Given the description of an element on the screen output the (x, y) to click on. 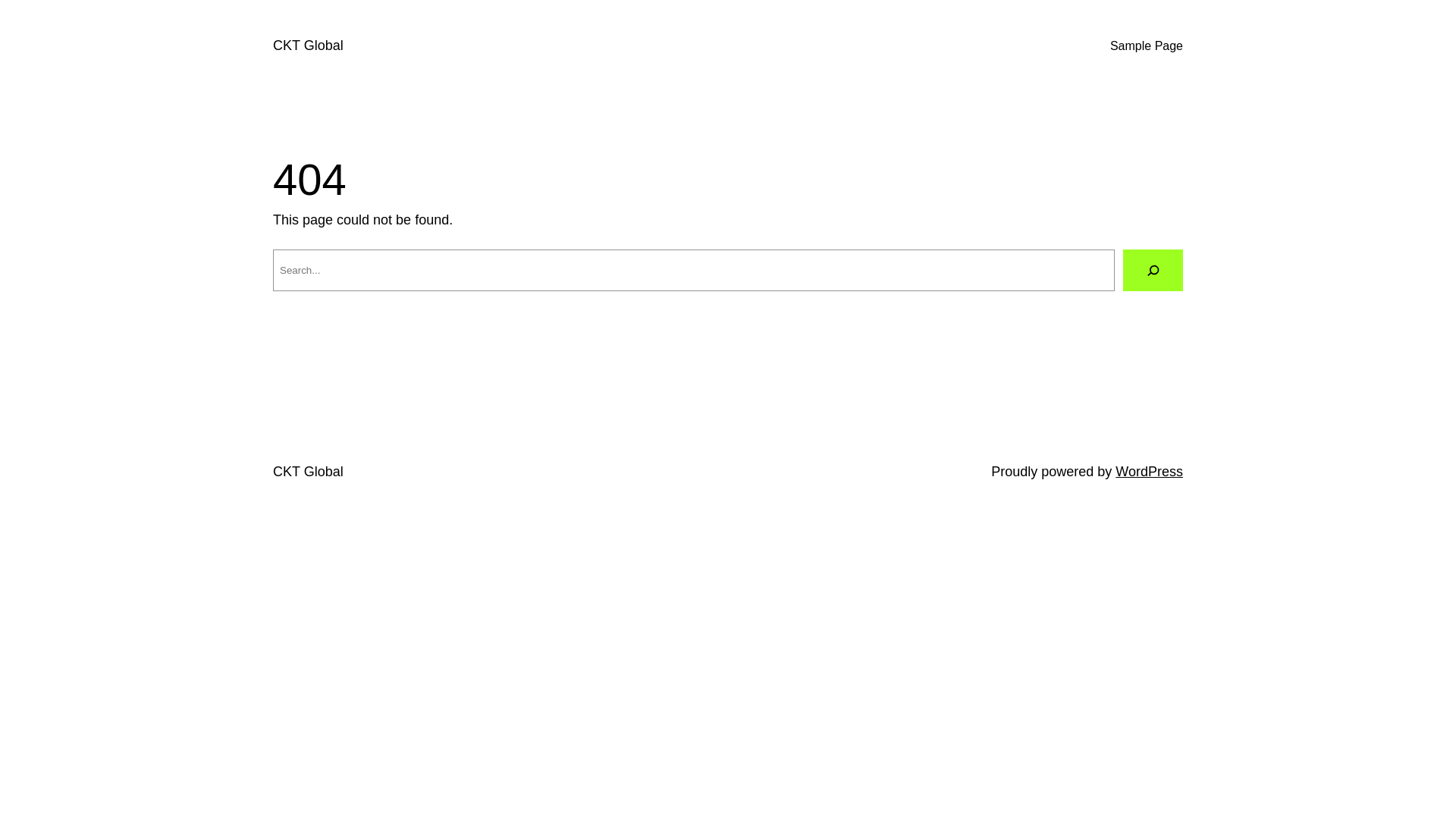
CKT Global Element type: text (308, 45)
WordPress Element type: text (1149, 471)
CKT Global Element type: text (308, 471)
Sample Page Element type: text (1146, 46)
